Given the description of an element on the screen output the (x, y) to click on. 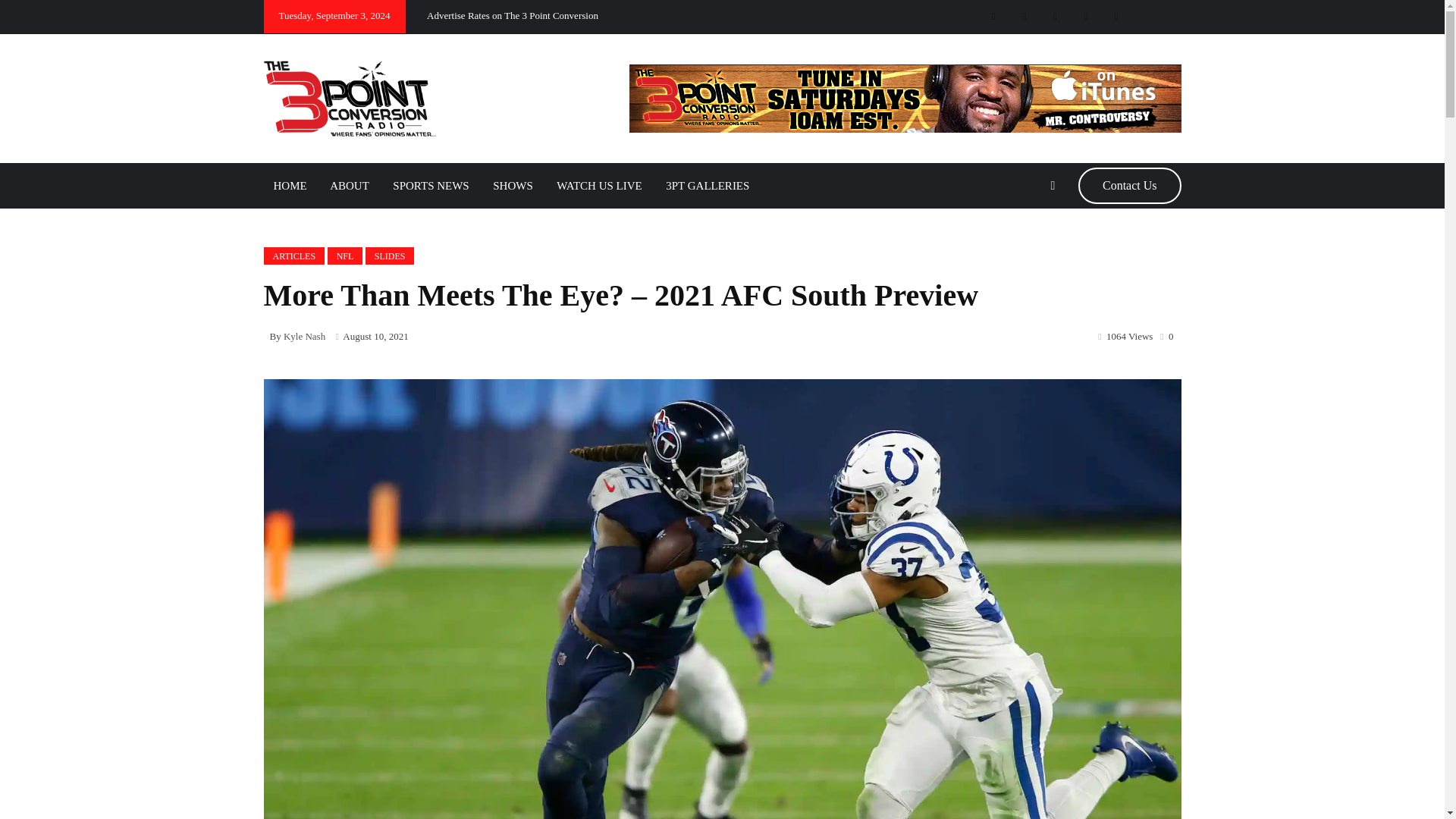
WATCH US LIVE (599, 185)
3PT GALLERIES (707, 185)
English (1156, 16)
SPORTS NEWS (430, 185)
Advertise Rates on The 3 Point Conversion (512, 15)
